Given the description of an element on the screen output the (x, y) to click on. 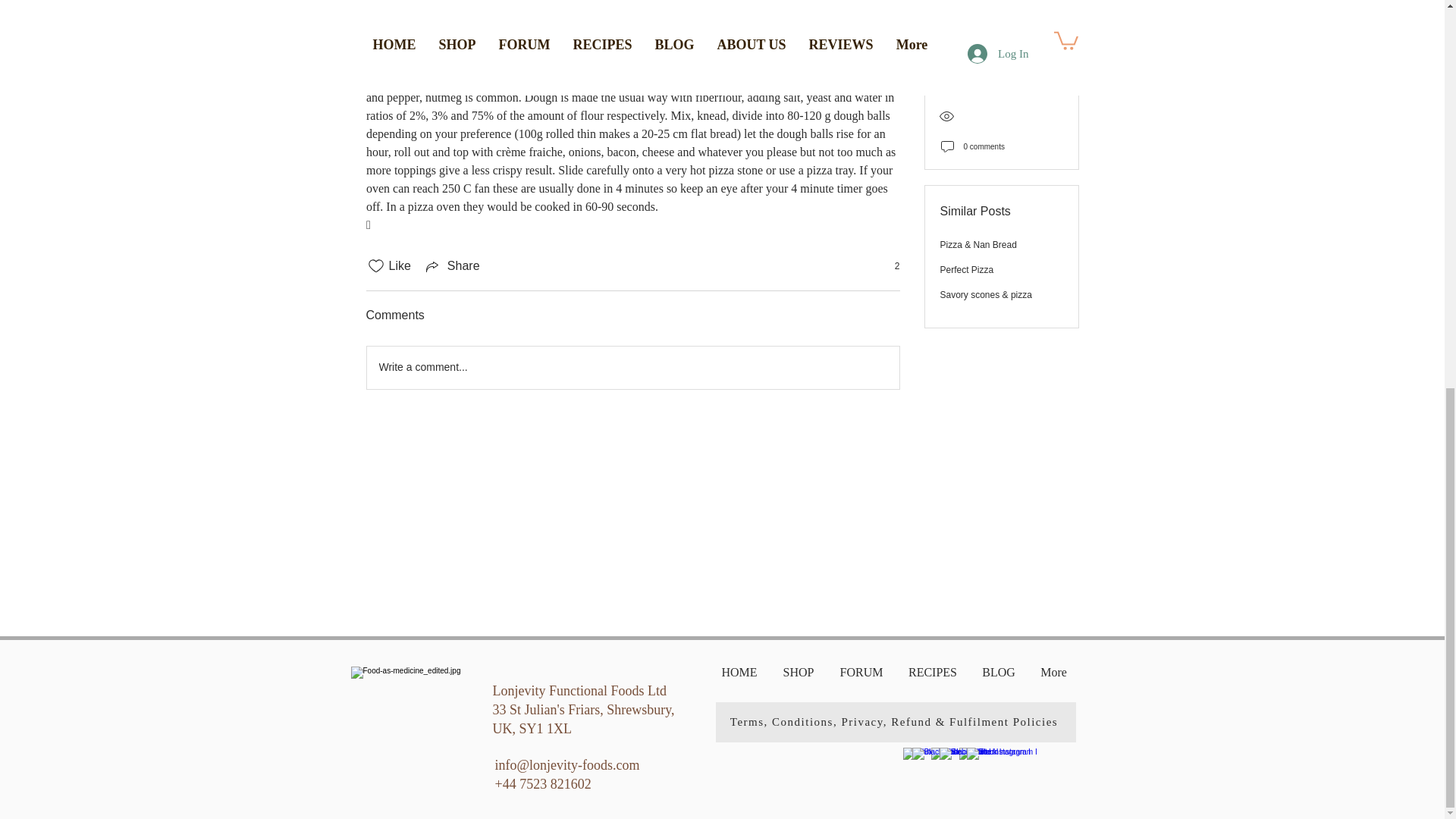
Write a comment... (632, 367)
HOME (738, 672)
FORUM (861, 672)
2 (888, 265)
BLOG (998, 672)
Share (451, 266)
RECIPES (932, 672)
SHOP (798, 672)
